Given the description of an element on the screen output the (x, y) to click on. 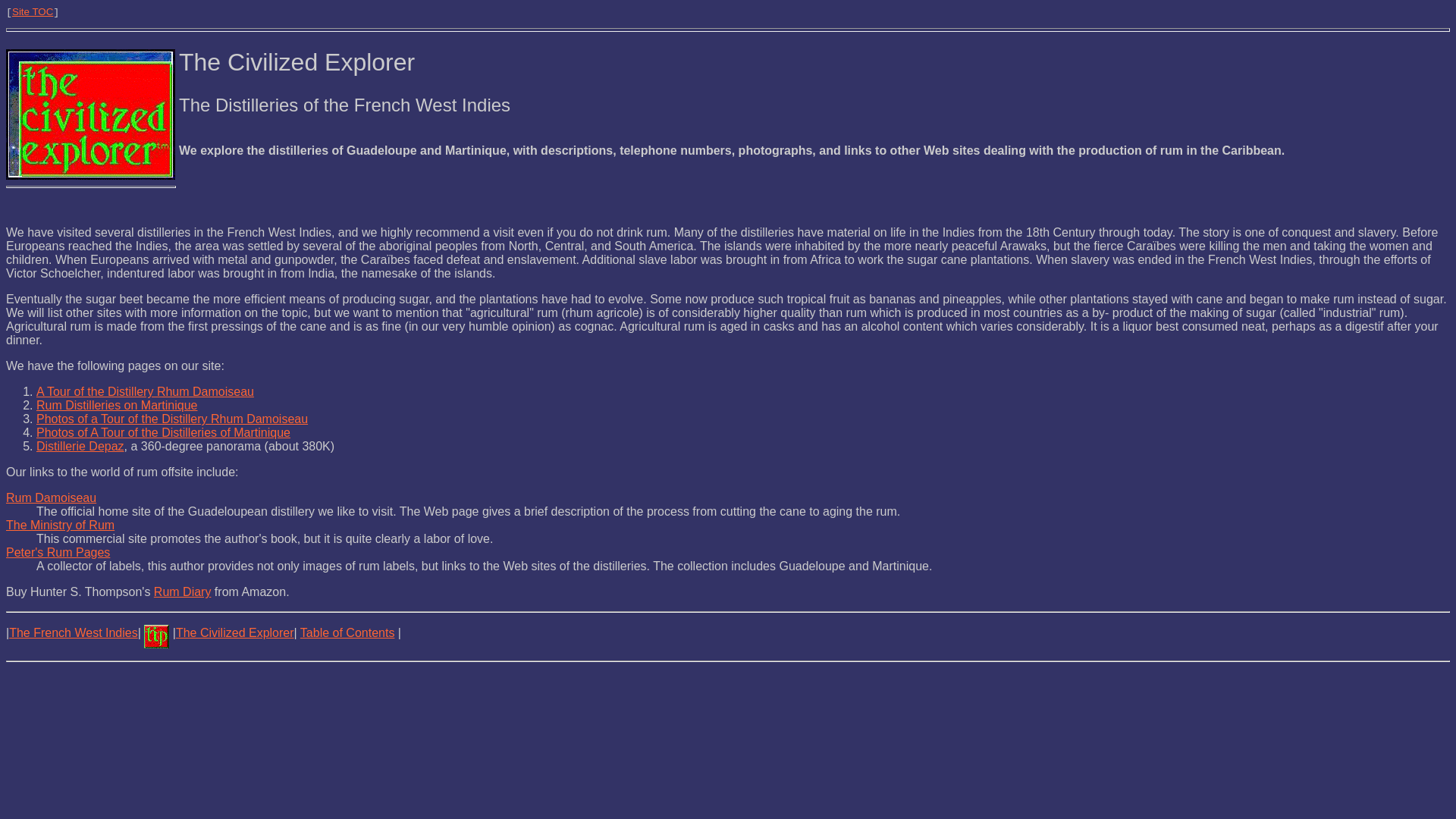
Rum Damoiseau (50, 497)
The Civilized Explorer (235, 632)
Photos of a Tour of the Distillery Rhum Damoiseau (171, 418)
Photos of A Tour of the Distilleries of Martinique (162, 431)
The Ministry of Rum (60, 524)
The French West Indies (73, 632)
A Tour of the Distillery Rhum Damoiseau (144, 391)
Table of Contents (346, 632)
Distillerie Depaz (79, 445)
Rum Diary (182, 591)
